Given the description of an element on the screen output the (x, y) to click on. 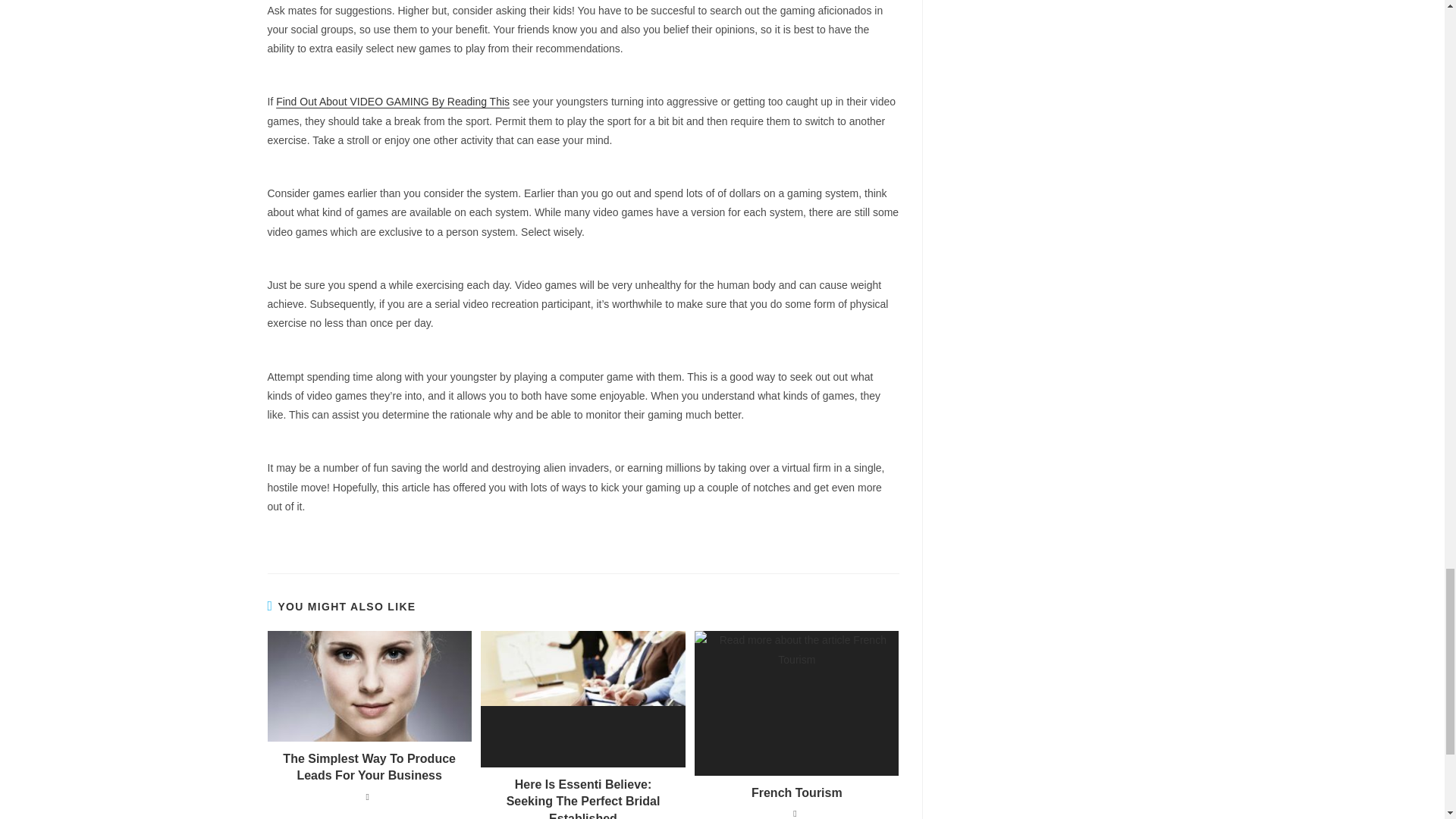
Find Out About VIDEO GAMING By Reading This (392, 101)
French Tourism (796, 792)
The Simplest Way To Produce Leads For Your Business (368, 767)
